Given the description of an element on the screen output the (x, y) to click on. 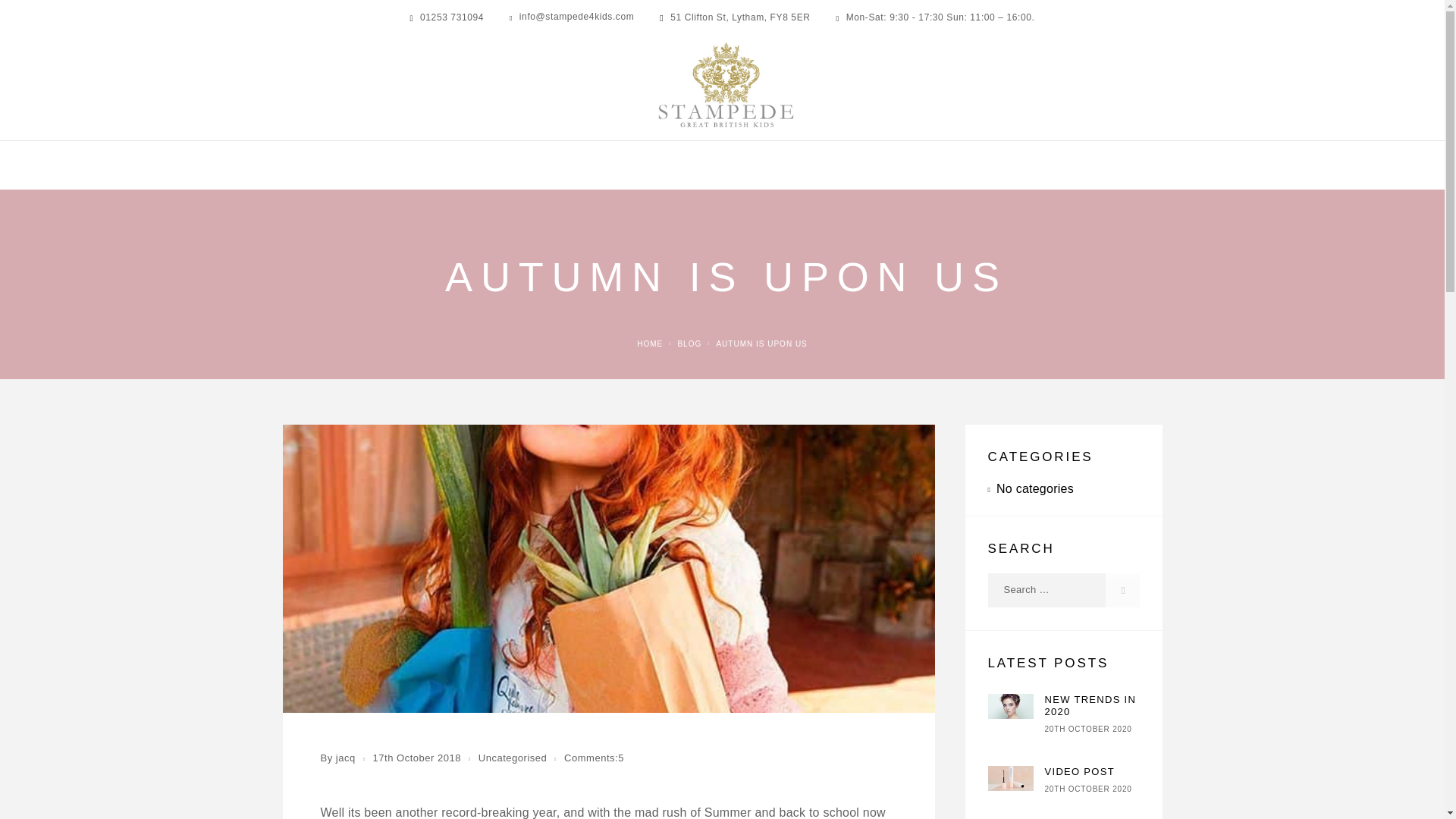
Home (649, 343)
Blog (689, 343)
View all posts in Uncategorised (513, 757)
Autumn is Upon Us (761, 343)
